Given the description of an element on the screen output the (x, y) to click on. 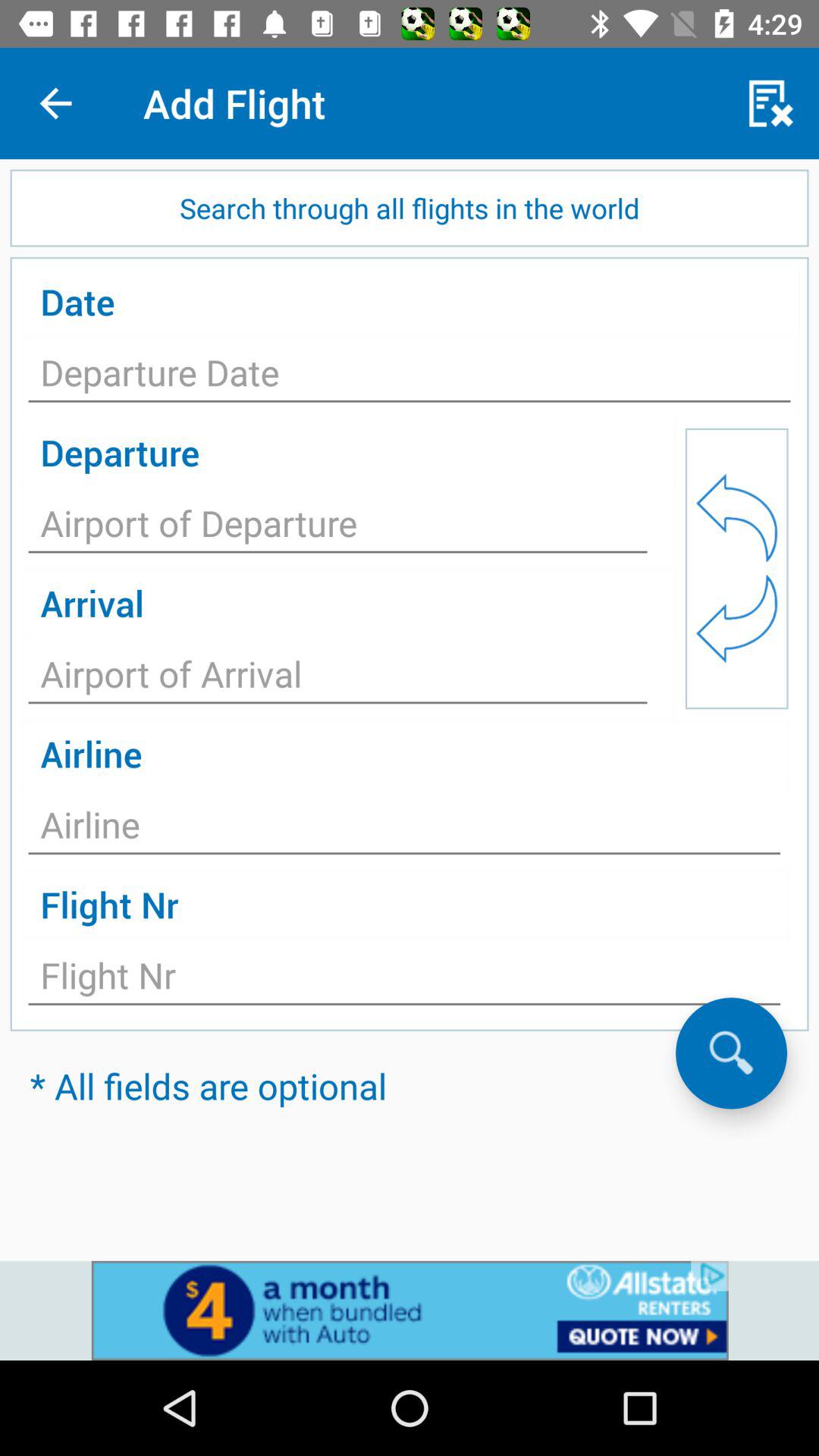
enter flight number (404, 979)
